Given the description of an element on the screen output the (x, y) to click on. 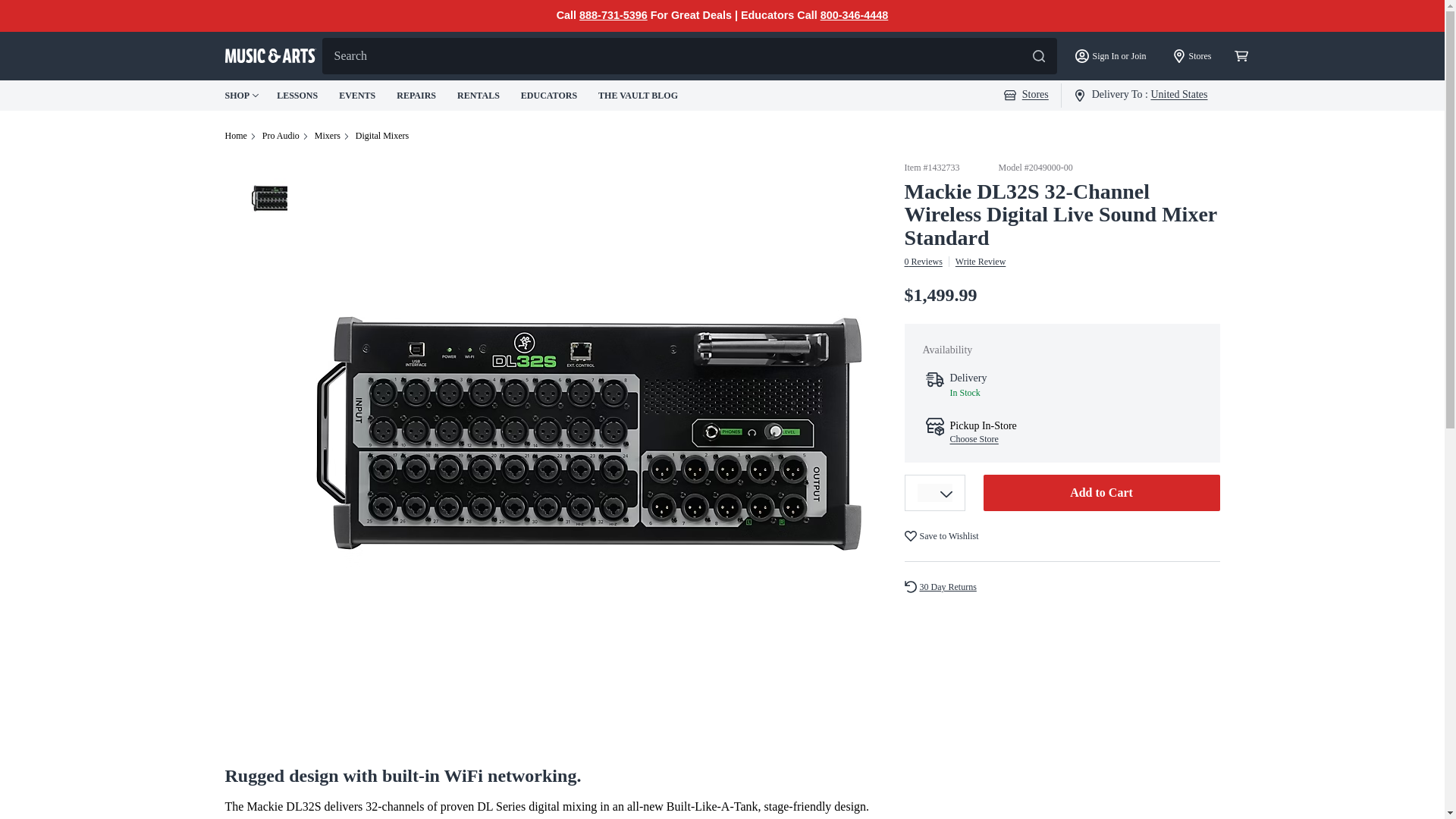
RENTALS (479, 94)
Sign In or Join (1110, 55)
Write Review (980, 261)
888-731-5396 (613, 15)
0 Reviews (923, 261)
Home (235, 135)
30 Day Returns (946, 586)
SHOP (241, 95)
Pro Audio (280, 135)
800-346-4448 (854, 15)
